Given the description of an element on the screen output the (x, y) to click on. 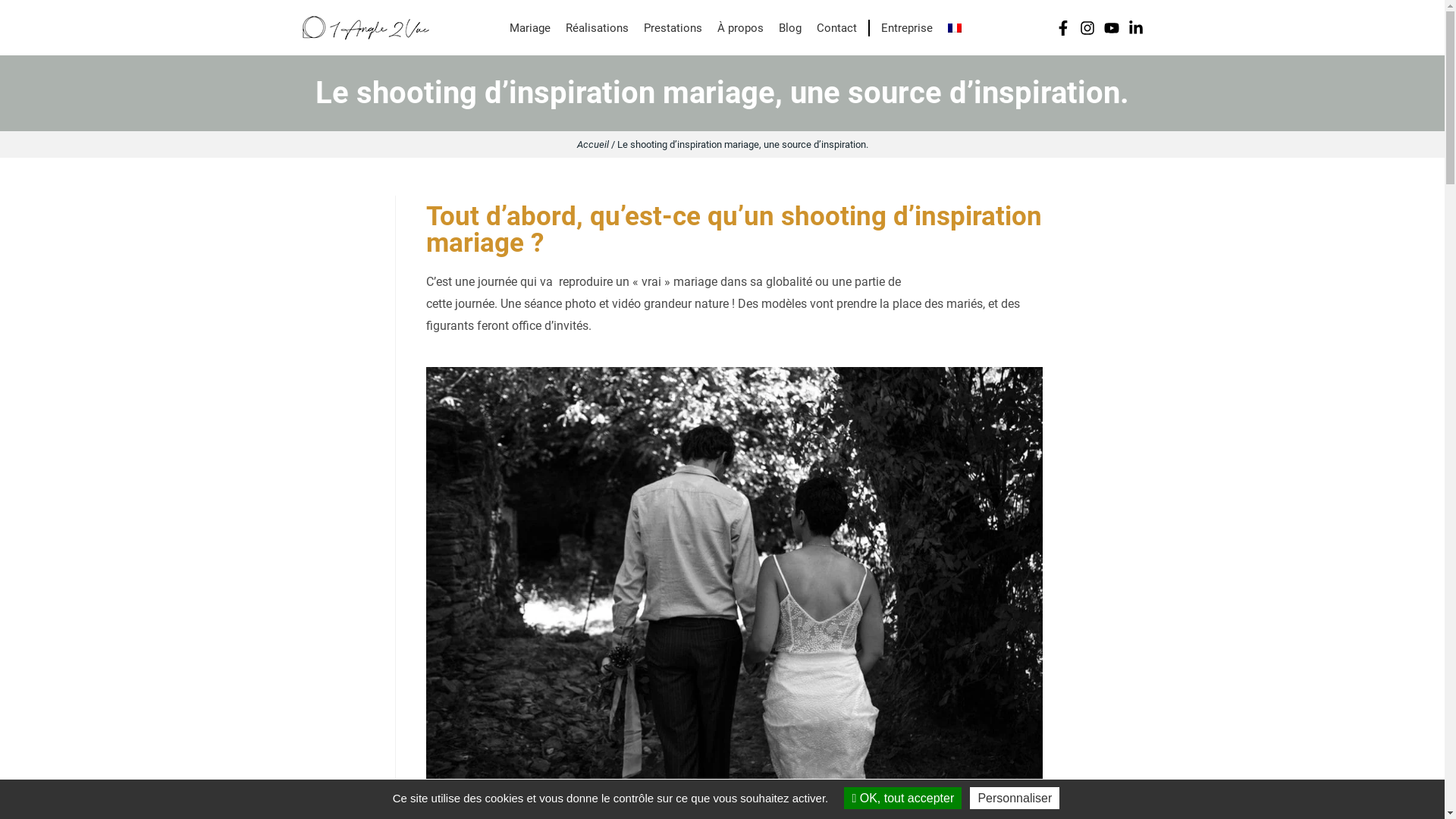
Entreprise Element type: text (902, 27)
Blog Element type: text (790, 27)
OK, tout accepter Element type: text (902, 798)
Accueil Element type: text (592, 144)
Mariage Element type: text (529, 27)
Personnaliser Element type: text (1014, 798)
Prestations Element type: text (673, 27)
Contact Element type: text (836, 27)
